Given the description of an element on the screen output the (x, y) to click on. 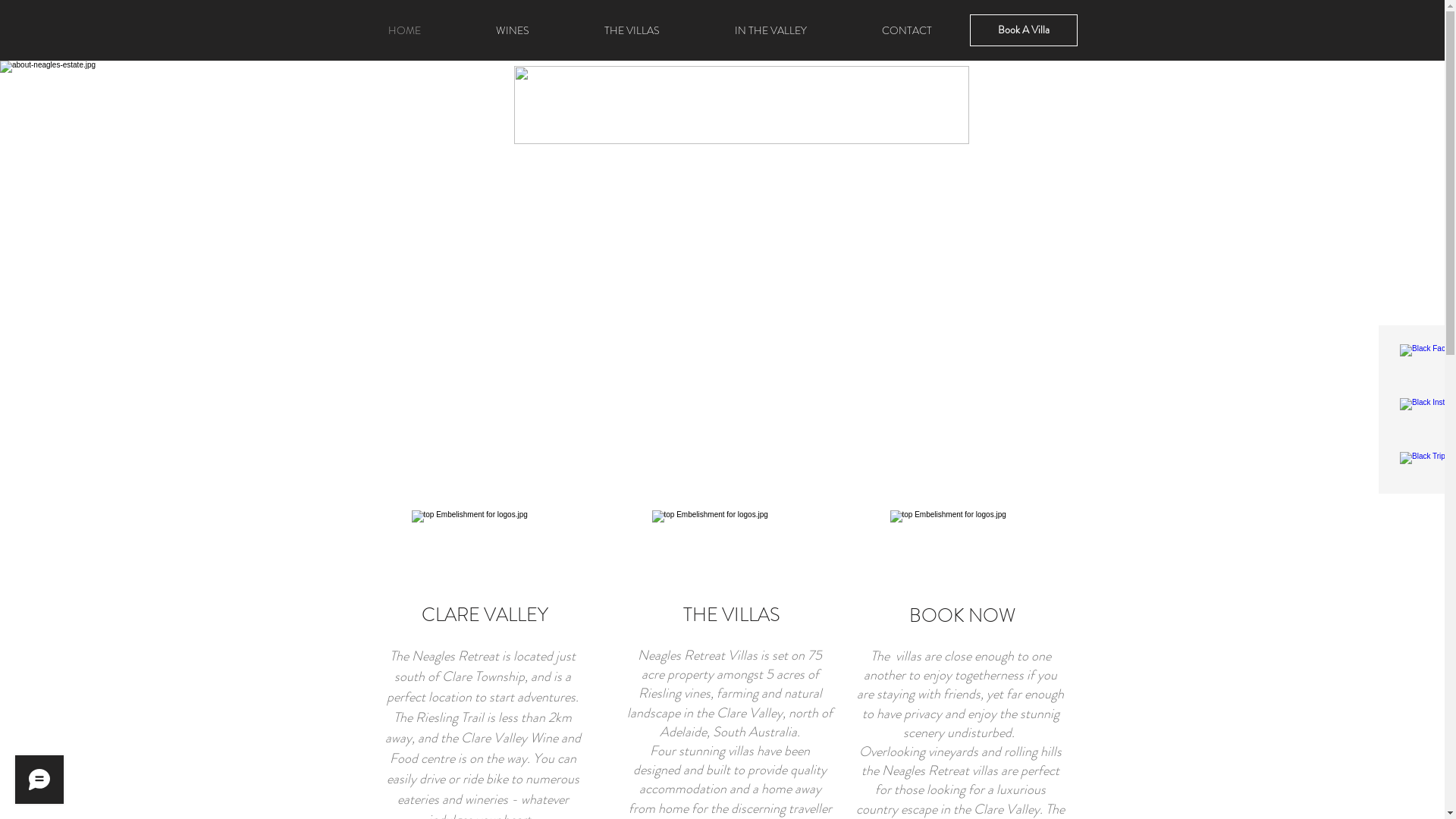
Untitled.png Element type: hover (741, 104)
HOME Element type: text (404, 30)
Book A Villa Element type: text (1022, 30)
IN THE VALLEY Element type: text (770, 30)
CONTACT Element type: text (906, 30)
THE VILLAS Element type: text (632, 30)
WINES Element type: text (512, 30)
